Given the description of an element on the screen output the (x, y) to click on. 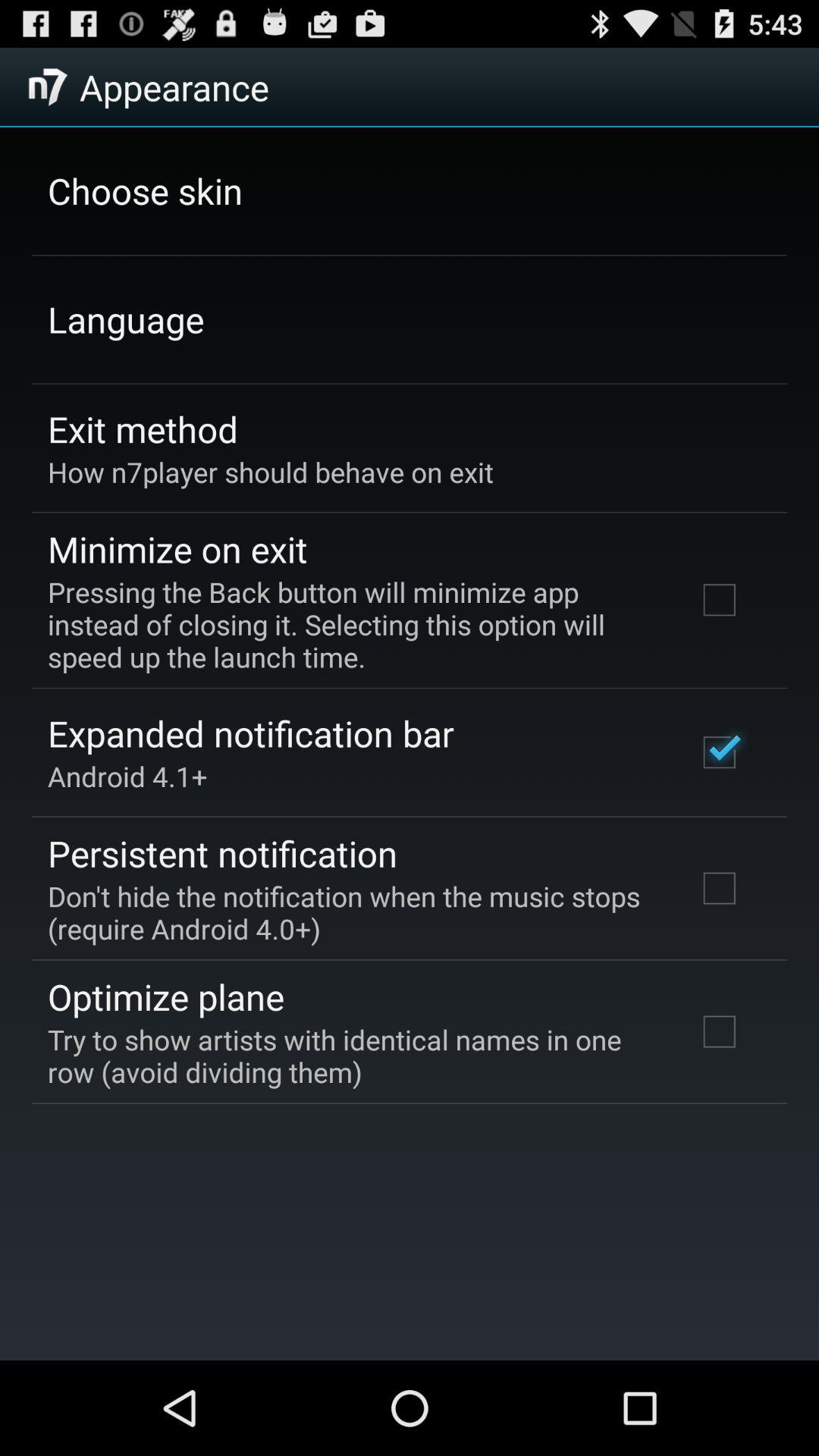
turn off item above language item (144, 190)
